Given the description of an element on the screen output the (x, y) to click on. 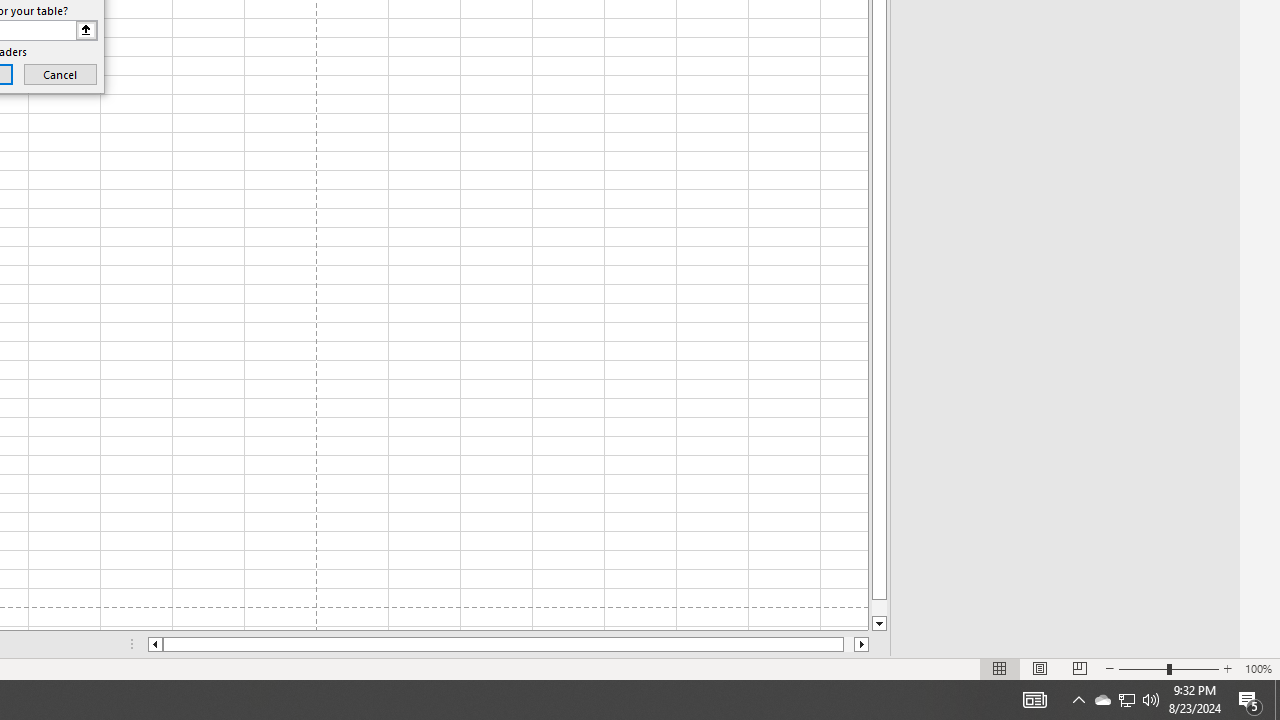
Page right (848, 644)
Page down (879, 607)
